Given the description of an element on the screen output the (x, y) to click on. 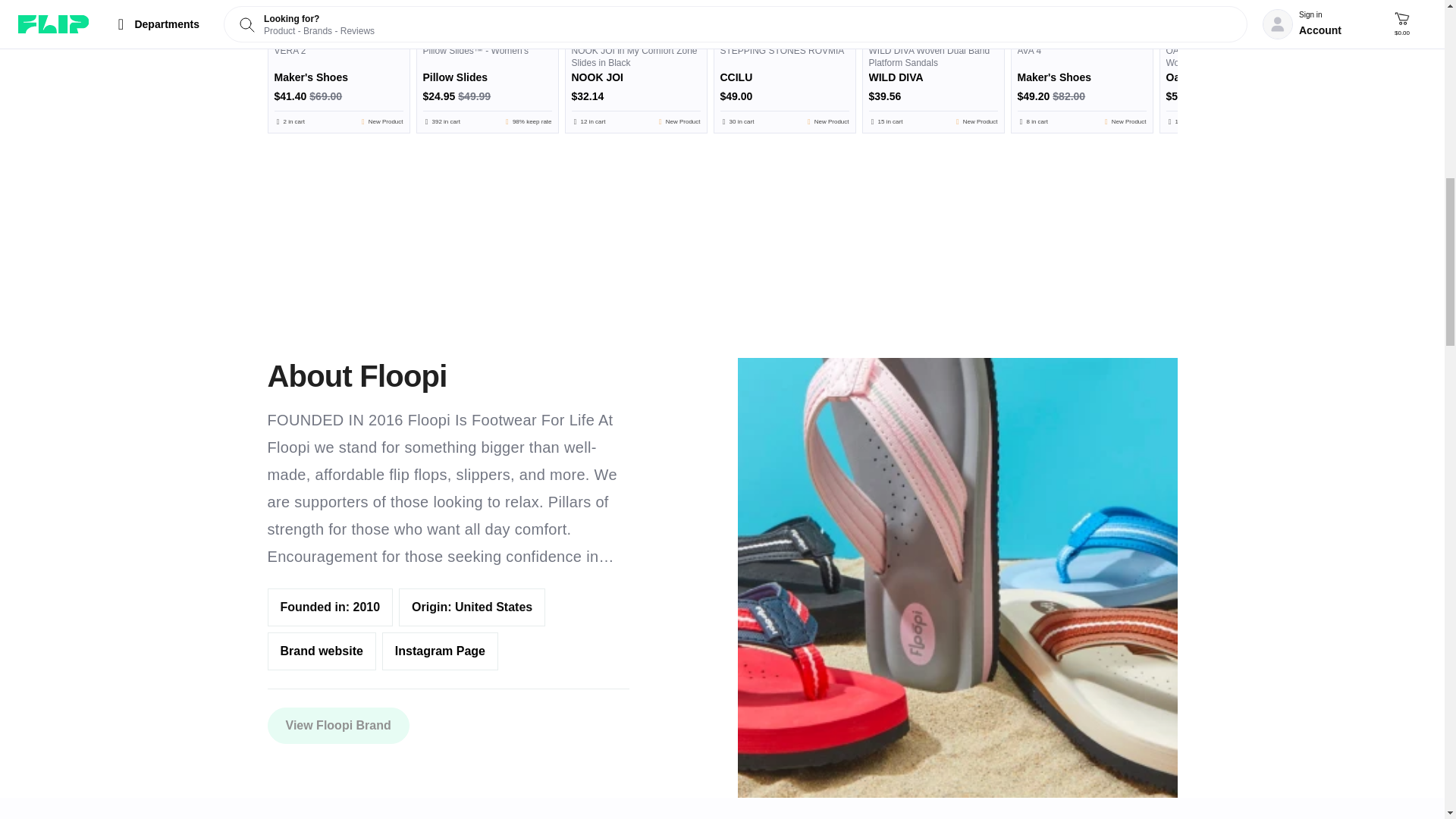
VERA 2 (338, 84)
NOOK JOI NOOK JOI in My Comfort Zone Slides in Black (636, 18)
CCILU STEPPING STONES ROVMIA (785, 18)
STEPPING STONES ROVMIA (785, 84)
NOOK JOI in My Comfort Zone Slides in Black (636, 84)
Maker's Shoes VERA 2 (338, 18)
